Given the description of an element on the screen output the (x, y) to click on. 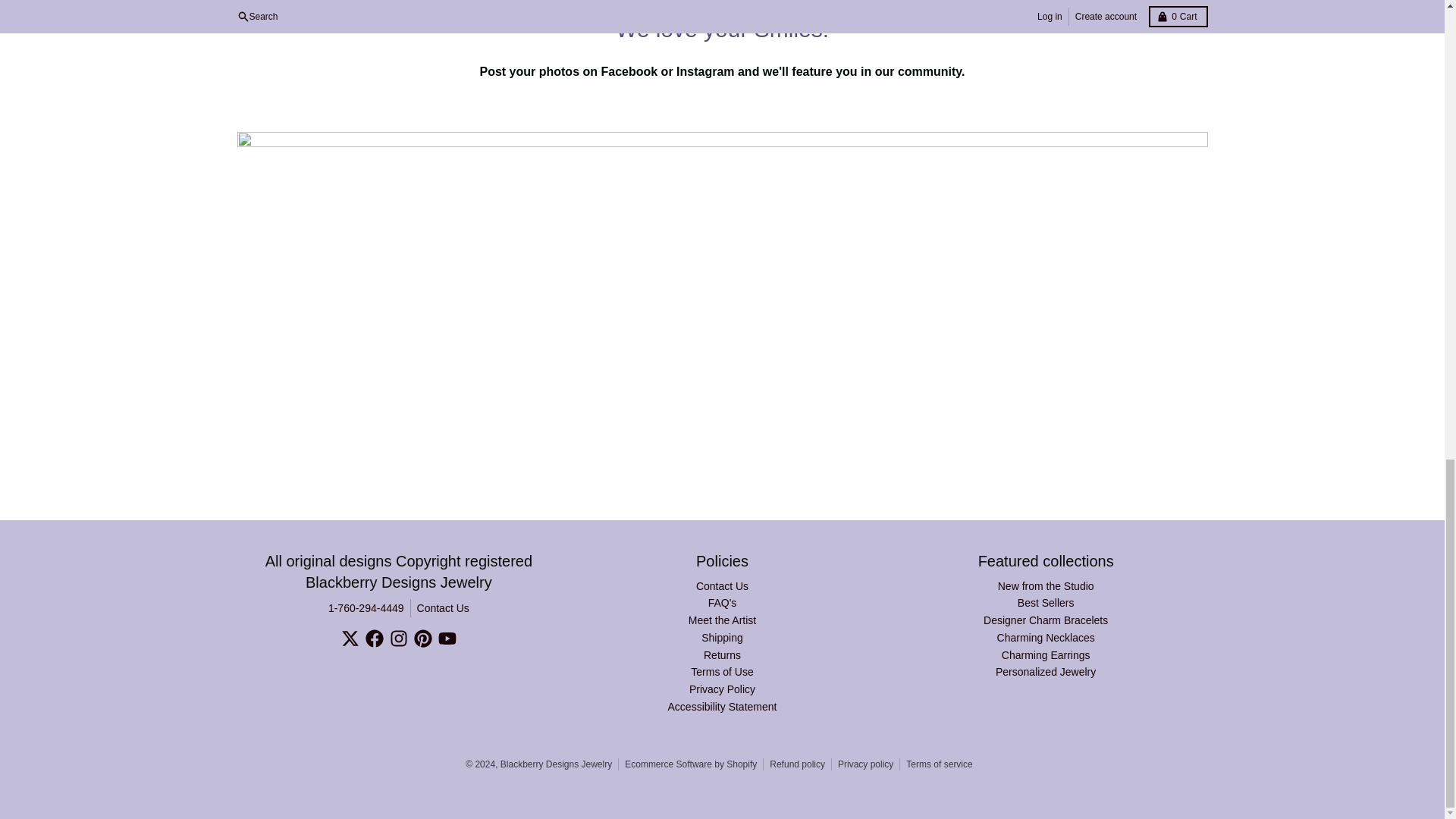
YouTube - Blackberry Designs Jewelry (447, 638)
Twitter - Blackberry Designs Jewelry (349, 638)
Instagram - Blackberry Designs Jewelry (398, 638)
Facebook - Blackberry Designs Jewelry (374, 638)
Pinterest - Blackberry Designs Jewelry (422, 638)
